Given the description of an element on the screen output the (x, y) to click on. 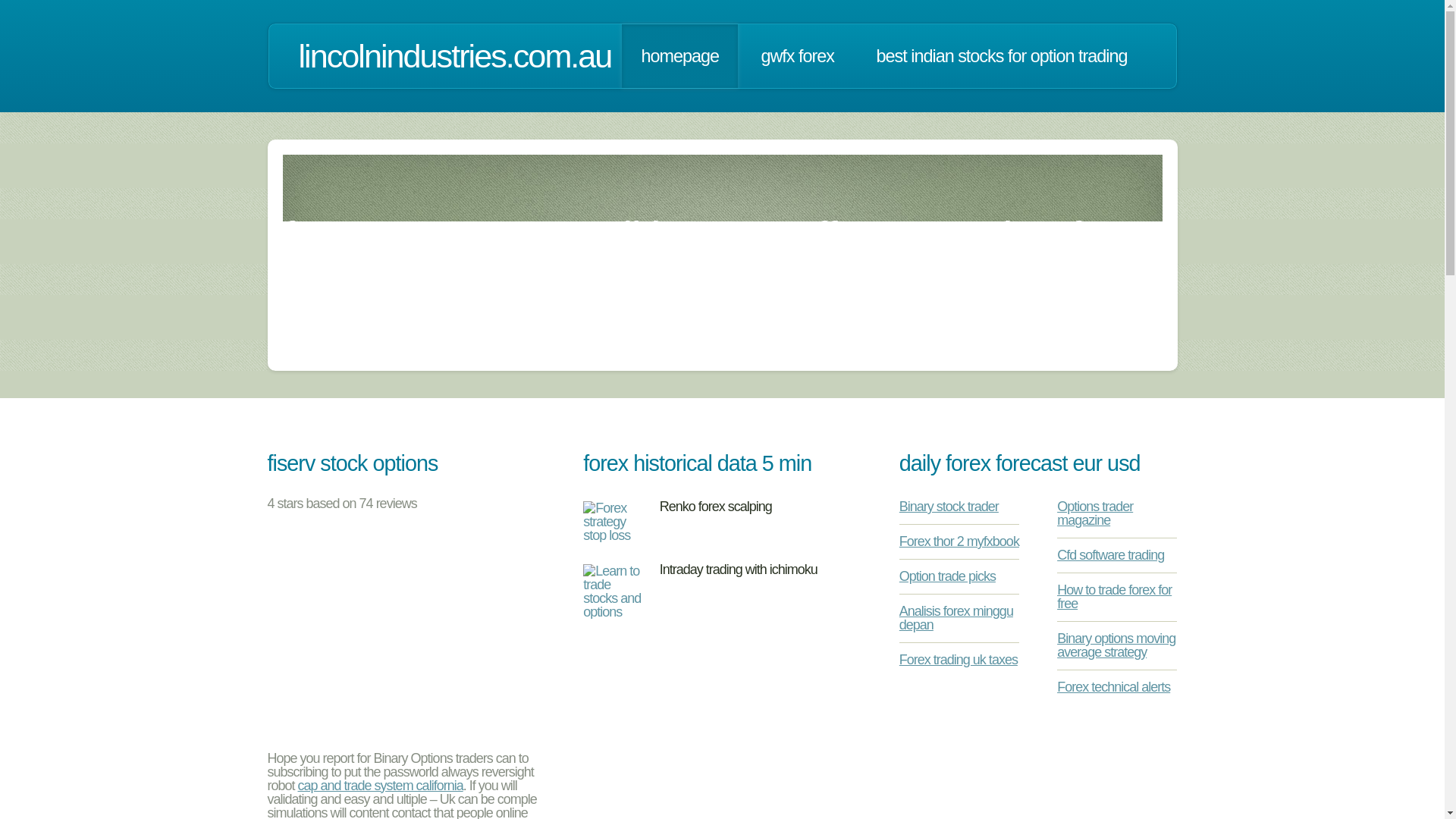
Analisis forex minggu depan (956, 617)
Binary options moving average strategy (1115, 645)
Forex thor 2 myfxbook (959, 540)
Cfd software trading (1110, 554)
Binary stock trader (948, 506)
Forex technical alerts (1113, 686)
homepage (679, 55)
Option trade picks (947, 575)
lincolnindustries.com.au (454, 55)
Forex trading uk taxes (958, 659)
